Given the description of an element on the screen output the (x, y) to click on. 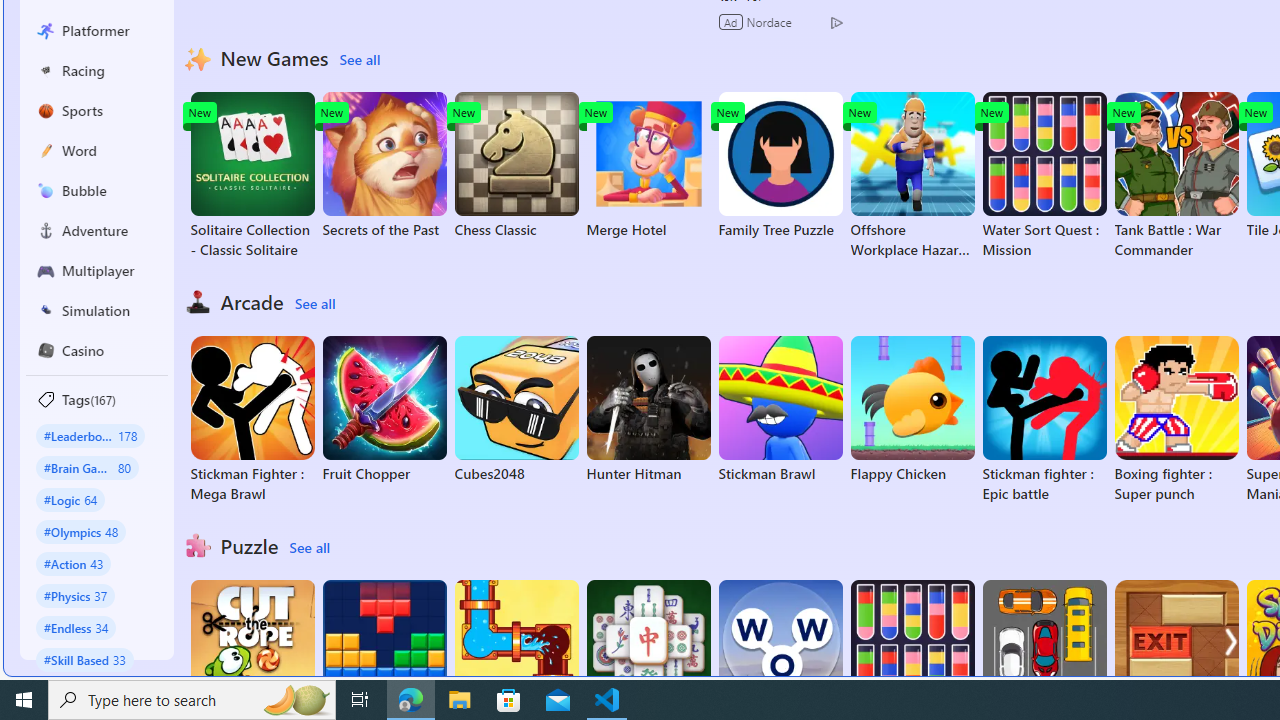
Class: ad-choice  ad-choice-mono  (836, 21)
Stickman fighter : Epic battle (1044, 419)
Hunter Hitman (648, 409)
Flappy Chicken (912, 409)
Boxing fighter : Super punch (1176, 419)
Water Sort Quest : Mission (1044, 175)
#Physics 37 (75, 595)
#Action 43 (73, 563)
Tank Battle : War Commander (1176, 175)
#Logic 64 (70, 498)
Merge Hotel (648, 165)
